Given the description of an element on the screen output the (x, y) to click on. 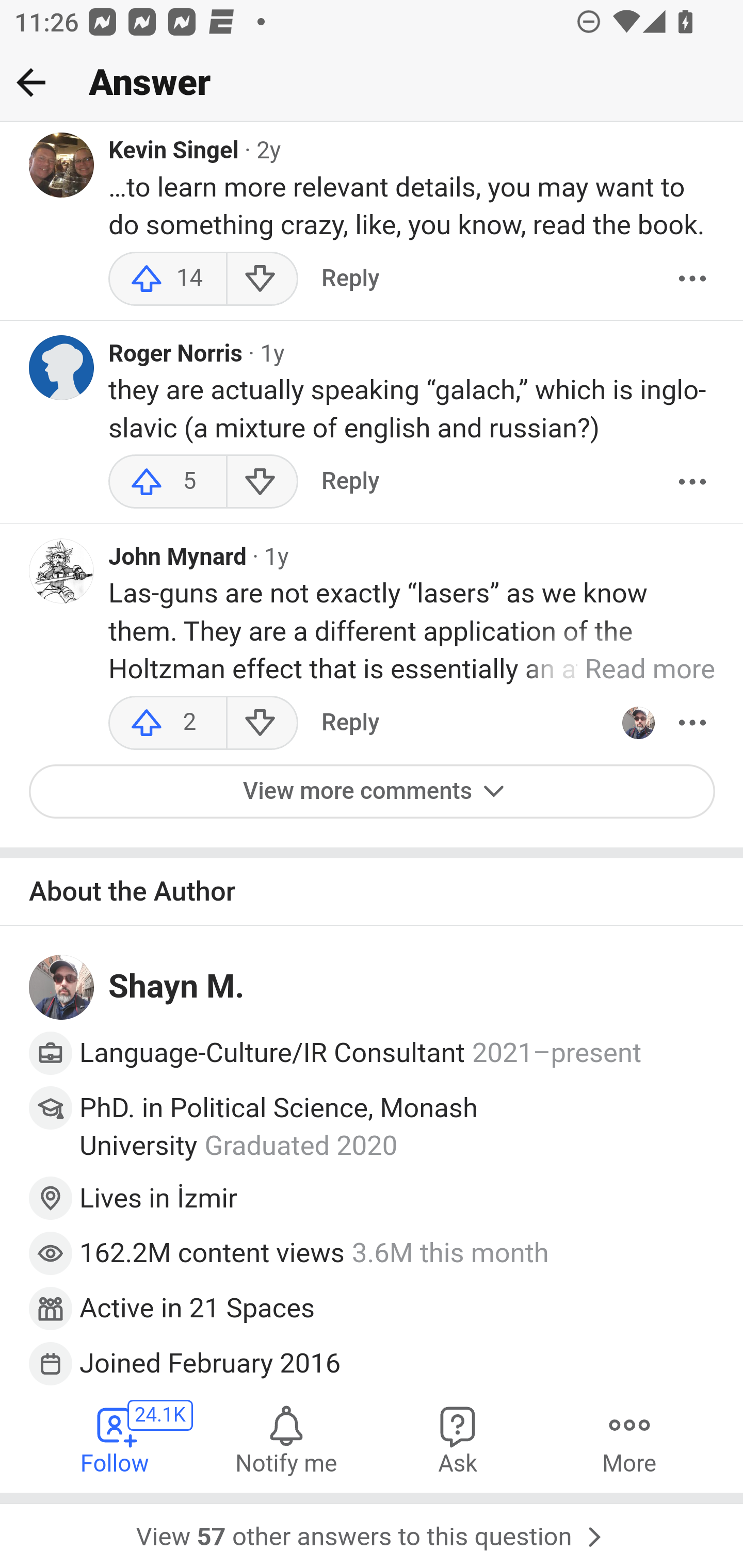
Back (30, 82)
Profile photo for Kevin Singel (61, 166)
Kevin Singel (173, 152)
14 upvotes (167, 279)
Downvote (261, 279)
Reply (350, 279)
More (691, 279)
Profile photo for Roger Norris (61, 368)
Roger Norris (175, 355)
5 upvotes (167, 482)
Downvote (261, 482)
Reply (350, 482)
More (691, 482)
Profile photo for John Mynard (61, 571)
John Mynard (177, 558)
2 upvotes (167, 723)
Downvote (261, 723)
Reply (350, 723)
Profile photo for Shayn M. (638, 723)
More (691, 723)
View more comments (372, 792)
Profile photo for Shayn M. (61, 987)
Shayn M. (176, 987)
Follow Shayn M. 24.1K Follow (115, 1440)
Notify me (285, 1440)
Ask (458, 1440)
More (628, 1440)
View 57 other answers to this question (371, 1531)
